Given the description of an element on the screen output the (x, y) to click on. 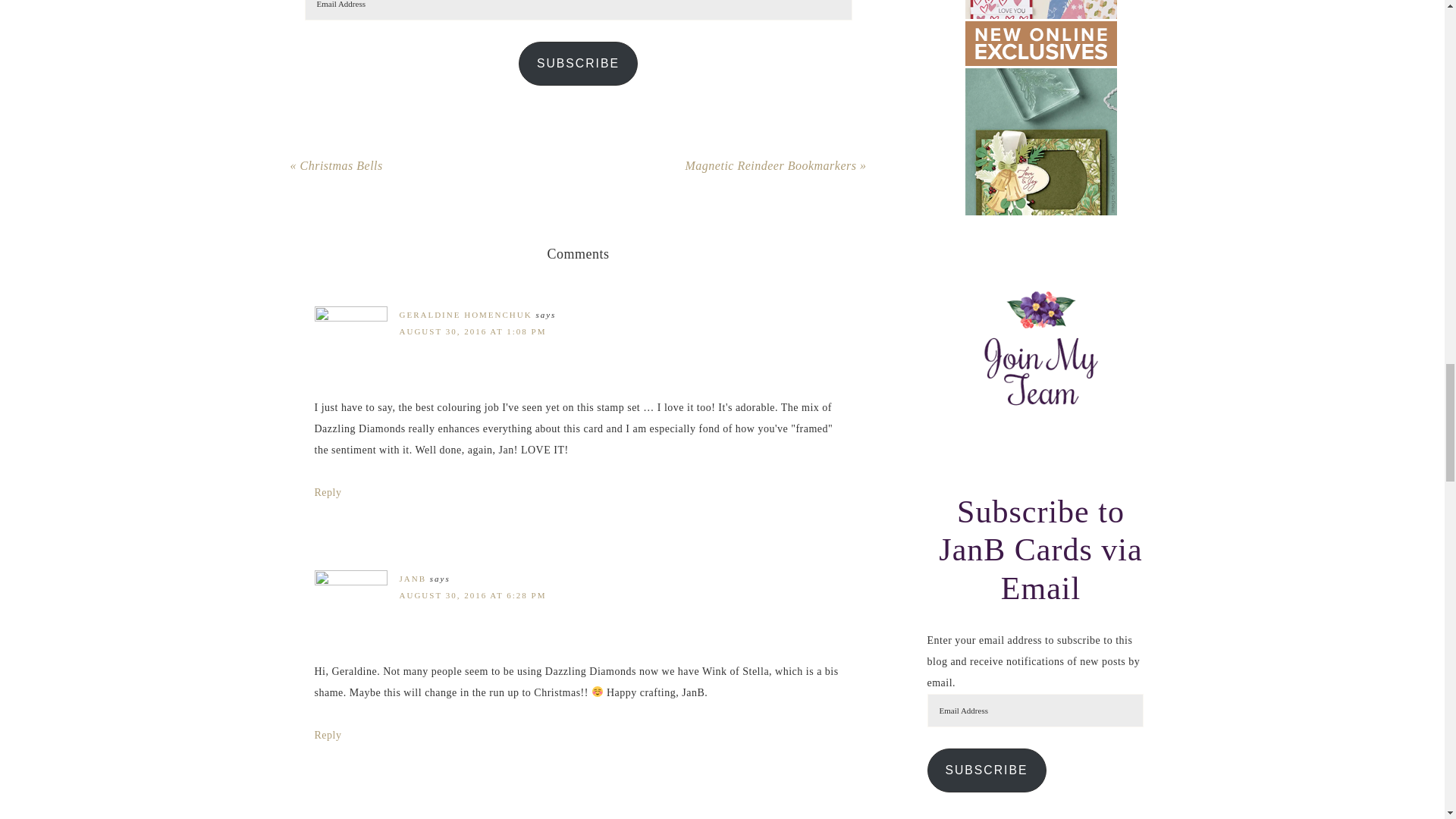
GERALDINE HOMENCHUK (464, 314)
SUBSCRIBE (577, 63)
Reply (327, 491)
JANB (412, 578)
AUGUST 30, 2016 AT 1:08 PM (472, 330)
